Given the description of an element on the screen output the (x, y) to click on. 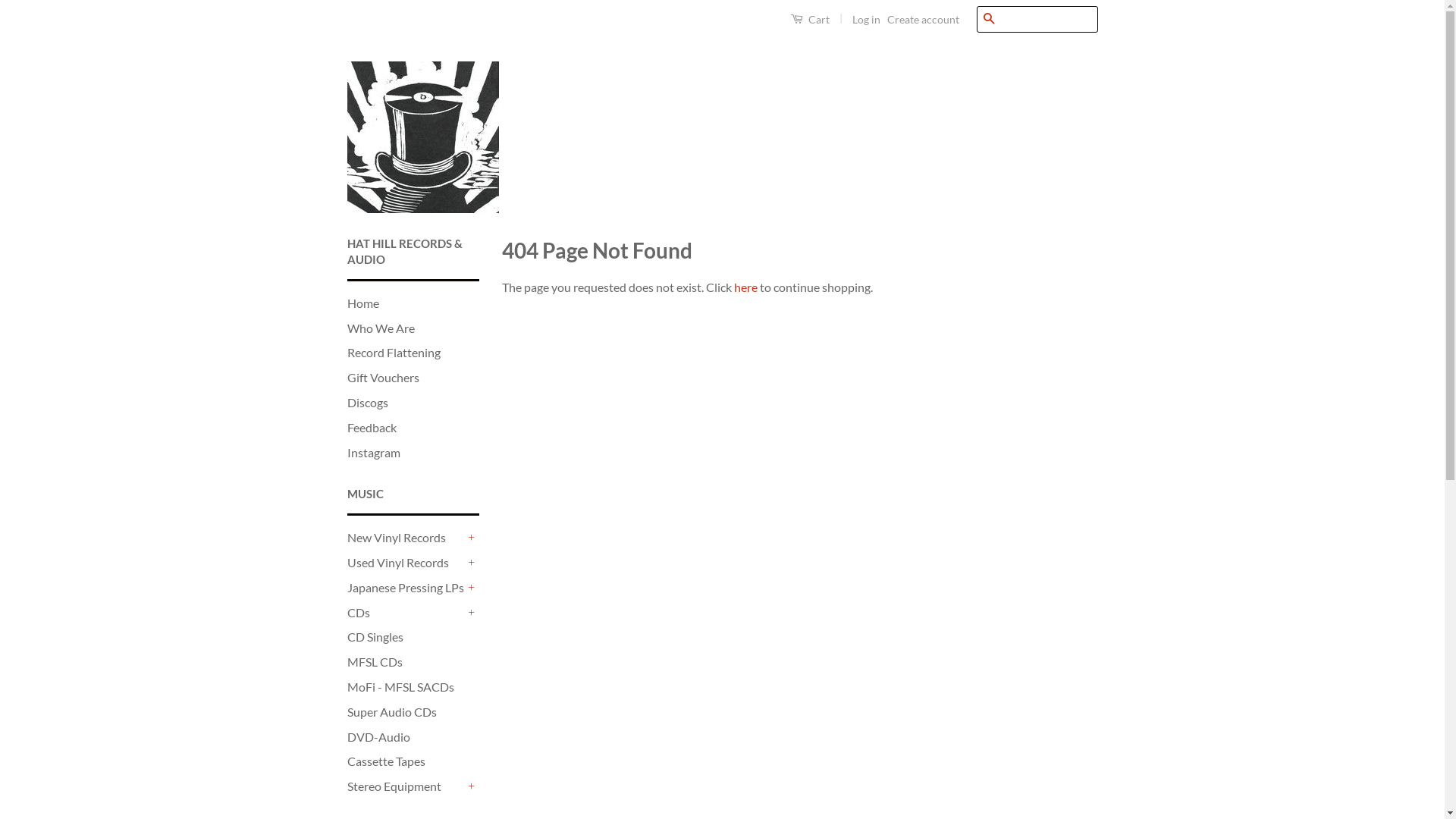
Cassette Tapes Element type: text (386, 760)
CD Singles Element type: text (375, 636)
Cart Element type: text (809, 18)
+ Element type: text (471, 786)
Super Audio CDs Element type: text (391, 711)
Japanese Pressing LPs Element type: text (405, 588)
+ Element type: text (471, 587)
Discogs Element type: text (367, 402)
CDs Element type: text (405, 613)
+ Element type: text (471, 612)
Log in Element type: text (866, 18)
+ Element type: text (471, 538)
Gift Vouchers Element type: text (383, 377)
DVD-Audio Element type: text (378, 736)
Used Vinyl Records Element type: text (405, 563)
Create account Element type: text (923, 18)
Feedback Element type: text (371, 427)
+ Element type: text (471, 562)
Stereo Equipment Element type: text (405, 786)
Search Element type: text (988, 18)
Home Element type: text (363, 302)
New Vinyl Records Element type: text (405, 538)
Record Flattening Element type: text (393, 352)
Instagram Element type: text (373, 451)
MFSL CDs Element type: text (374, 661)
MoFi - MFSL SACDs Element type: text (400, 686)
Who We Are Element type: text (380, 327)
here Element type: text (745, 286)
